Given the description of an element on the screen output the (x, y) to click on. 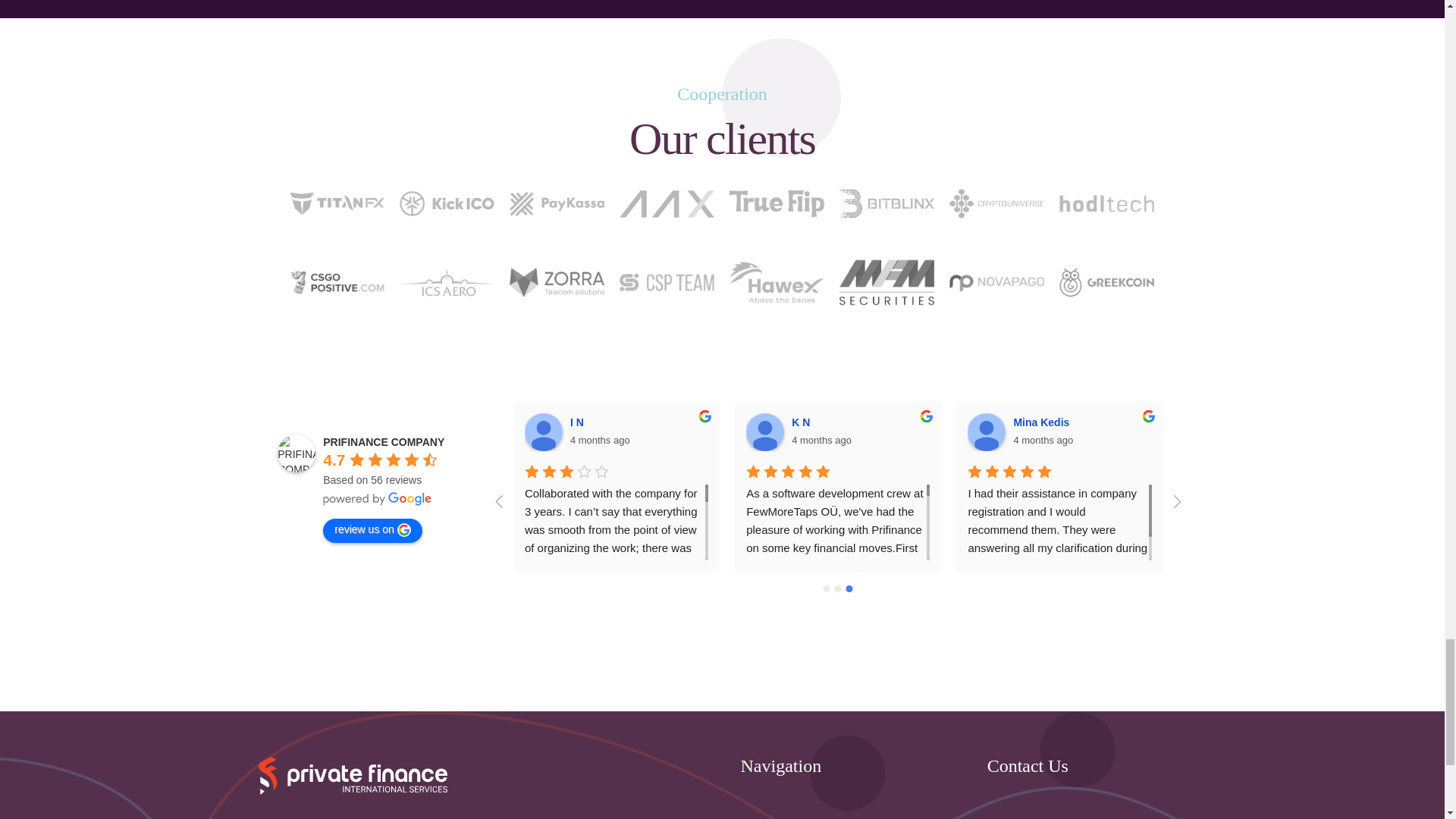
Mina Kedis (987, 432)
K N (764, 432)
I N (543, 432)
PRIFINANCE COMPANY (296, 453)
powered by Google (377, 499)
